Given the description of an element on the screen output the (x, y) to click on. 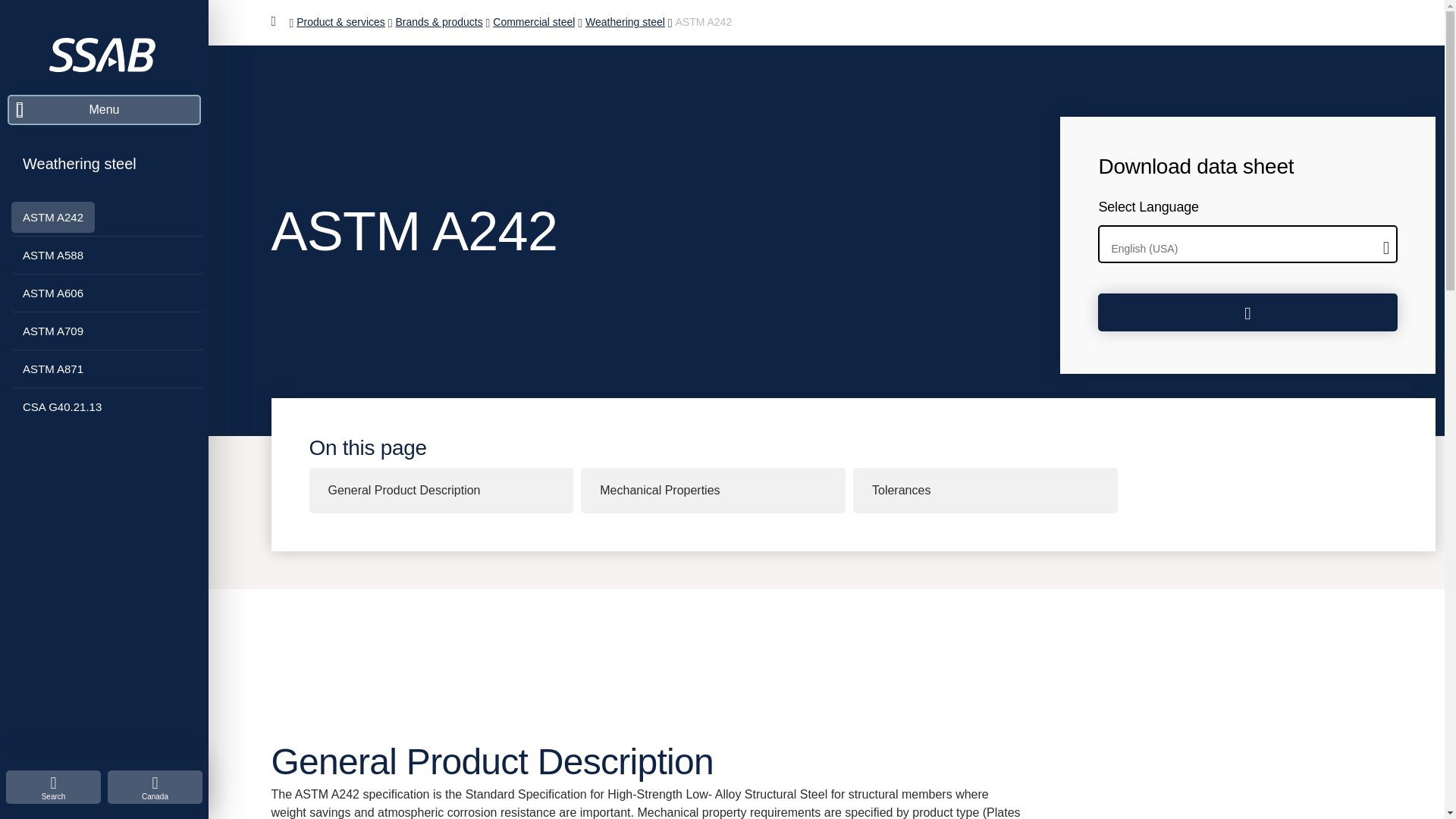
Weathering steel (79, 163)
Search (52, 786)
CSA G40.21.13 (62, 406)
ASTM A709 (52, 330)
Menu (103, 110)
ASTM A588 (52, 255)
ASTM A871 (52, 368)
ASTM A606 (52, 292)
Canada (154, 786)
ASTM A242 (52, 216)
